Given the description of an element on the screen output the (x, y) to click on. 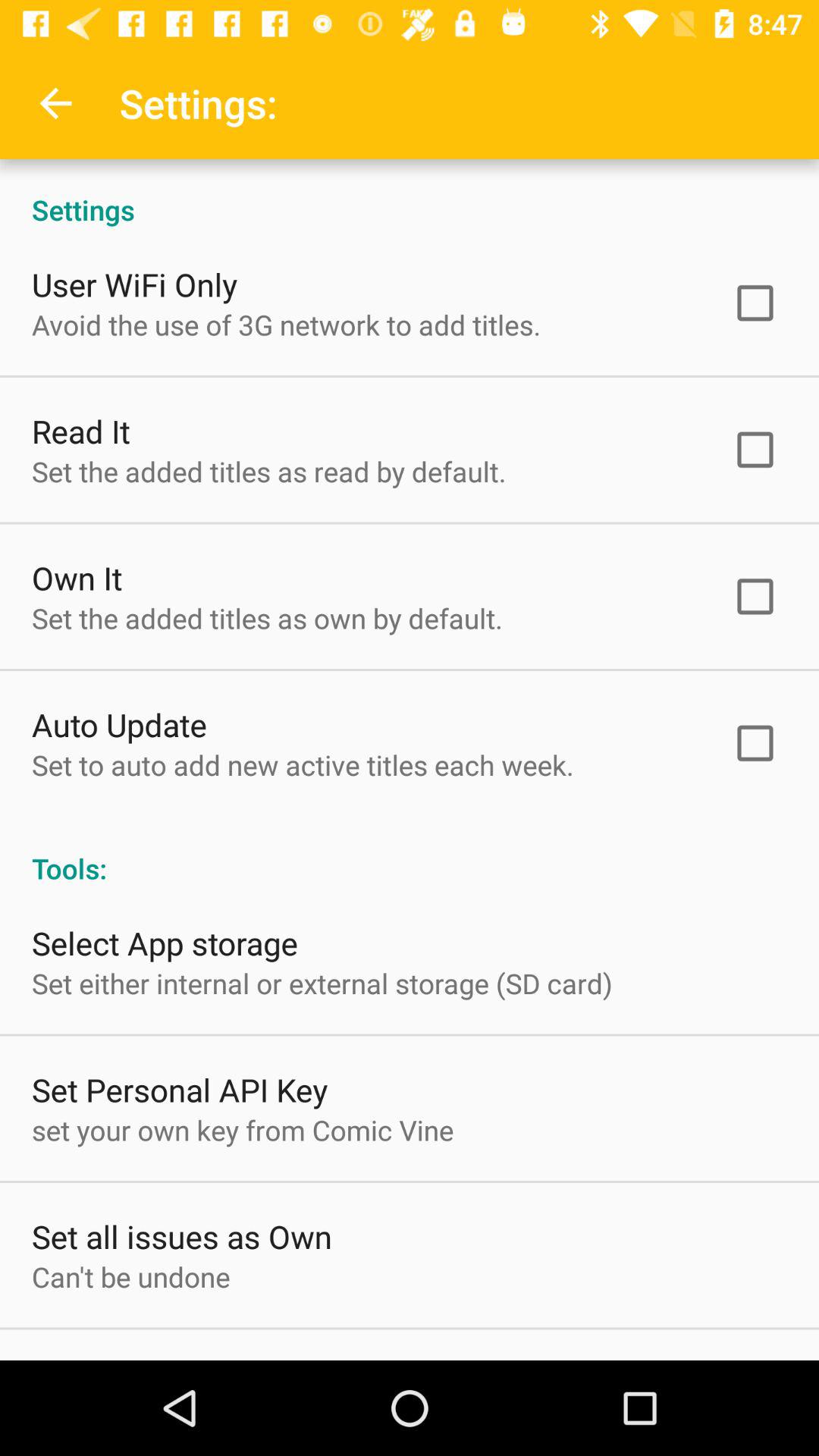
flip to the set either internal item (321, 983)
